Given the description of an element on the screen output the (x, y) to click on. 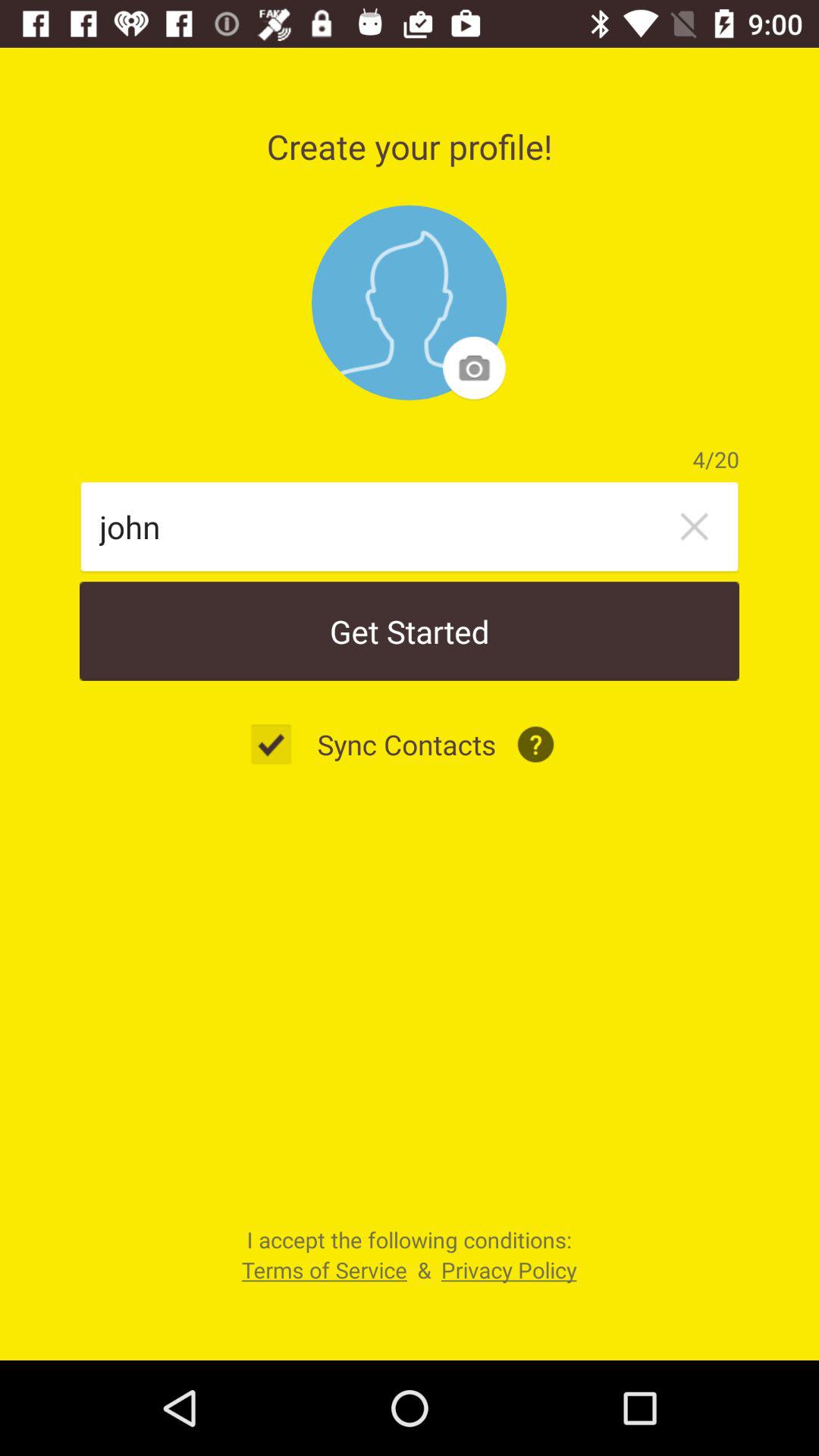
turn on item above the i accept the item (279, 744)
